Given the description of an element on the screen output the (x, y) to click on. 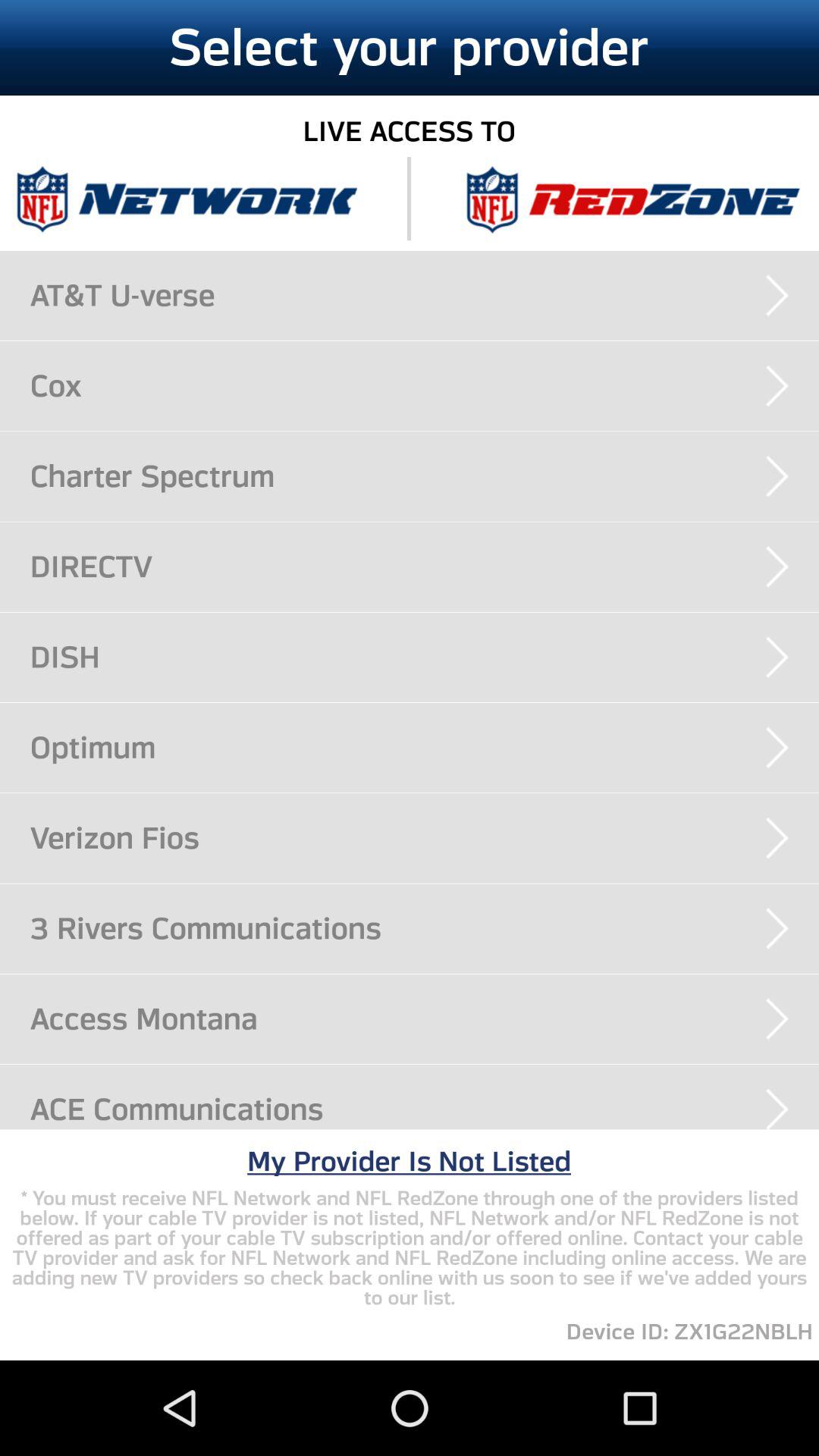
open the optimum item (424, 747)
